Given the description of an element on the screen output the (x, y) to click on. 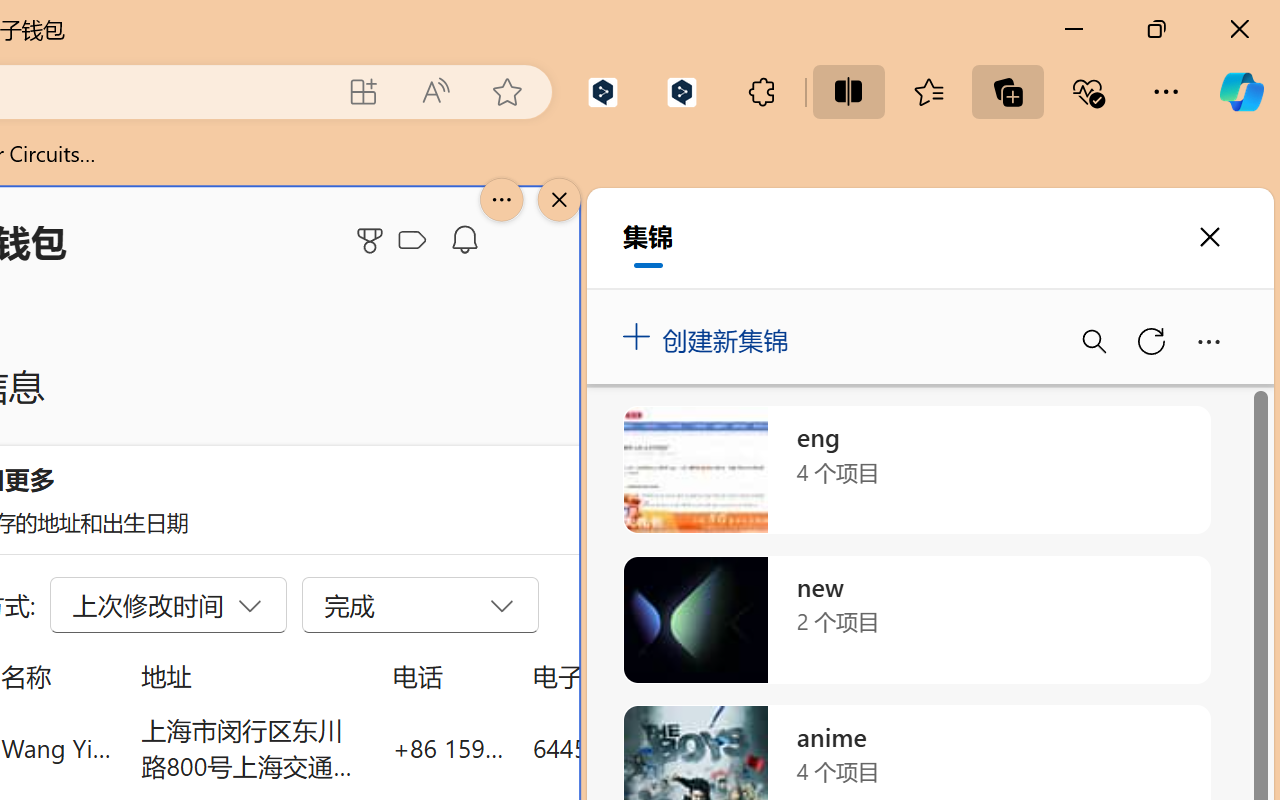
Microsoft Rewards (373, 240)
644553698@qq.com (644, 747)
